Given the description of an element on the screen output the (x, y) to click on. 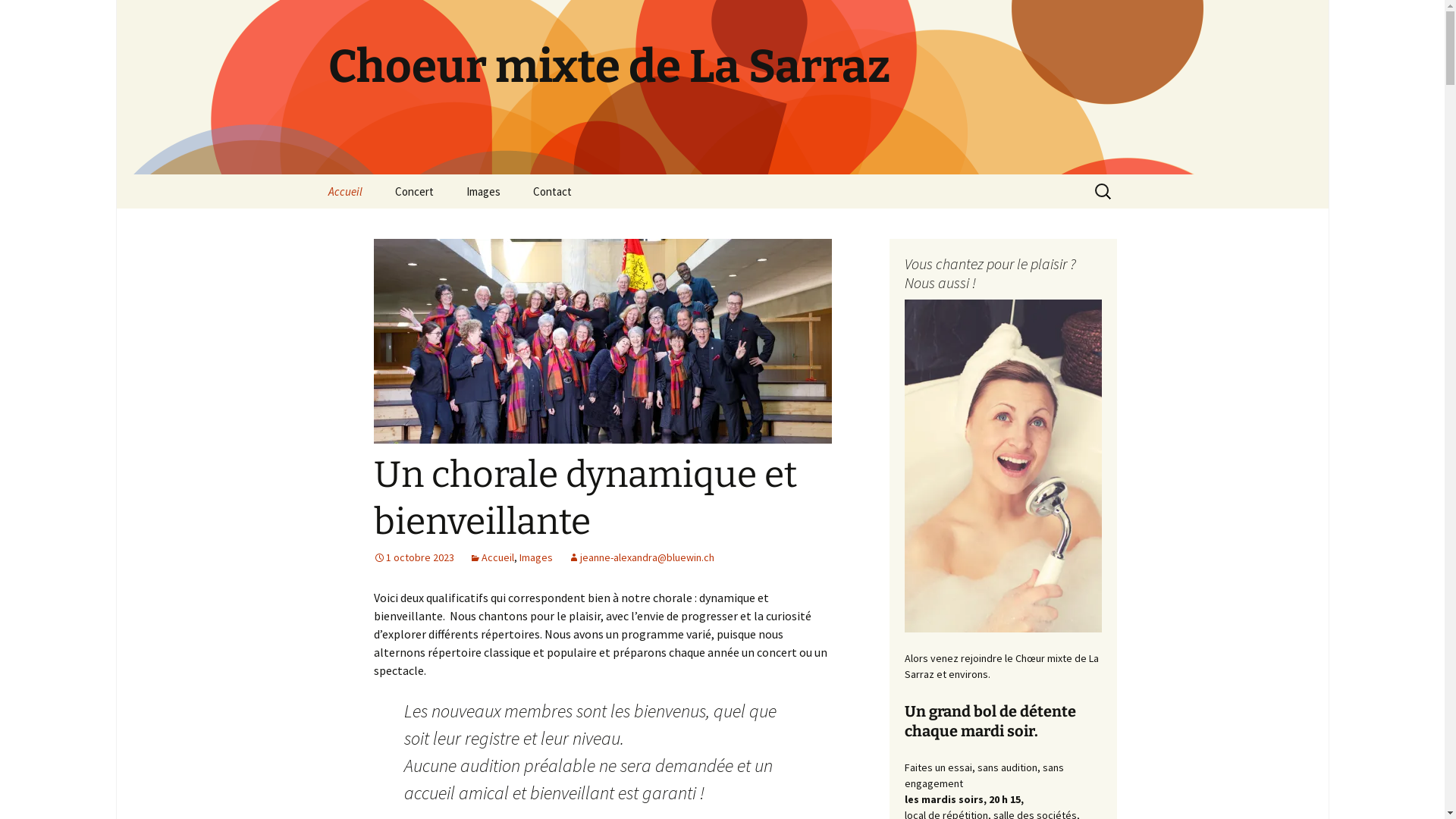
Concert Element type: text (413, 191)
Accueil Element type: text (490, 557)
Un chorale dynamique et bienveillante Element type: text (584, 497)
Contact Element type: text (551, 191)
Choeur mixte de La Sarraz Element type: text (721, 87)
Images Element type: text (535, 557)
Accueil Element type: text (344, 191)
Aller au contenu Element type: text (312, 173)
Rechercher Element type: text (18, 16)
Images Element type: text (482, 191)
1 octobre 2023 Element type: text (413, 557)
jeanne-alexandra@bluewin.ch Element type: text (640, 557)
